Given the description of an element on the screen output the (x, y) to click on. 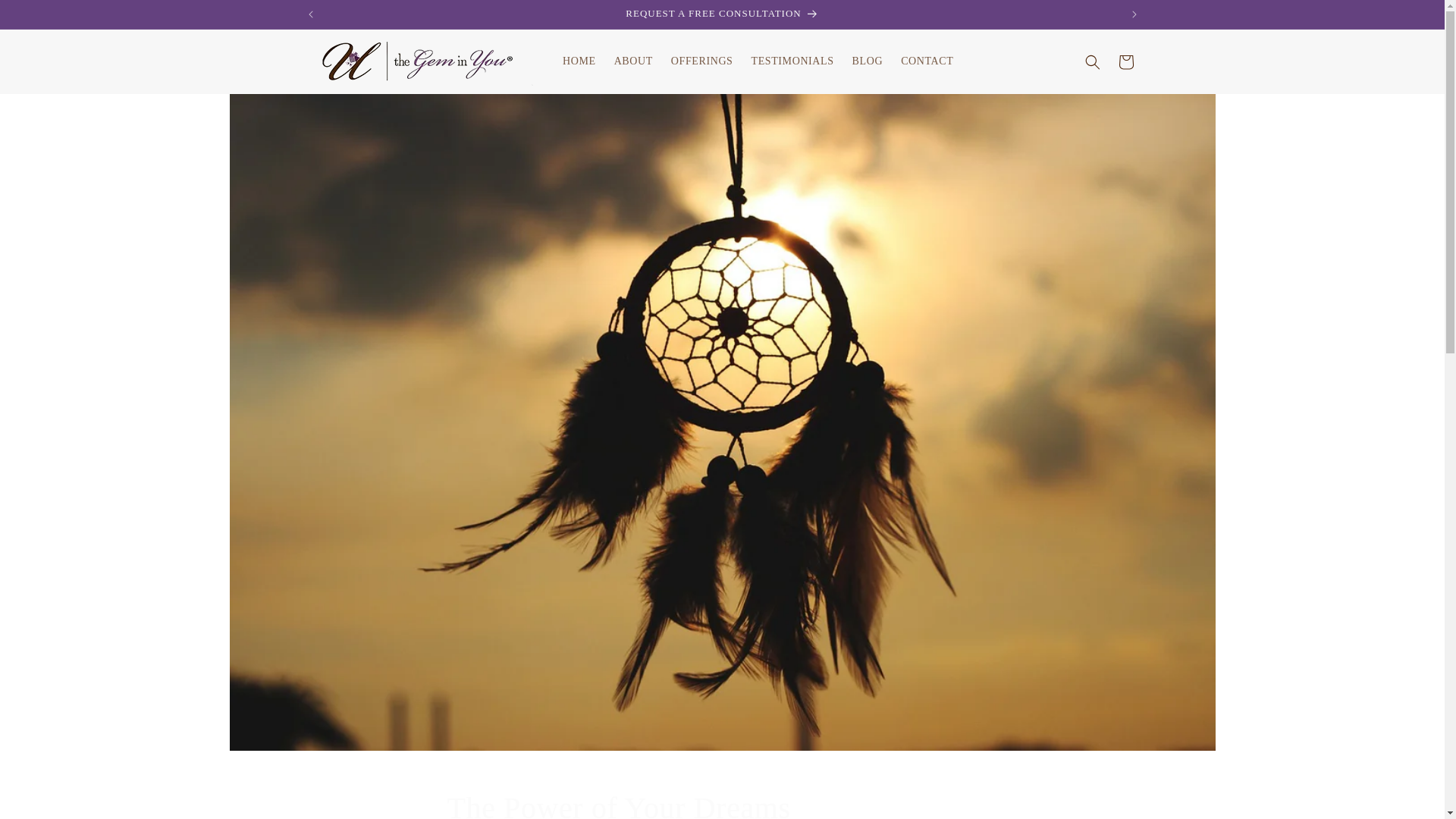
Skip to content (45, 17)
REQUEST A FREE CONSULTATION (722, 14)
ABOUT (633, 60)
BLOG (867, 60)
HOME (579, 60)
TESTIMONIALS (792, 60)
OFFERINGS (721, 803)
CONTACT (702, 60)
Cart (926, 60)
